Given the description of an element on the screen output the (x, y) to click on. 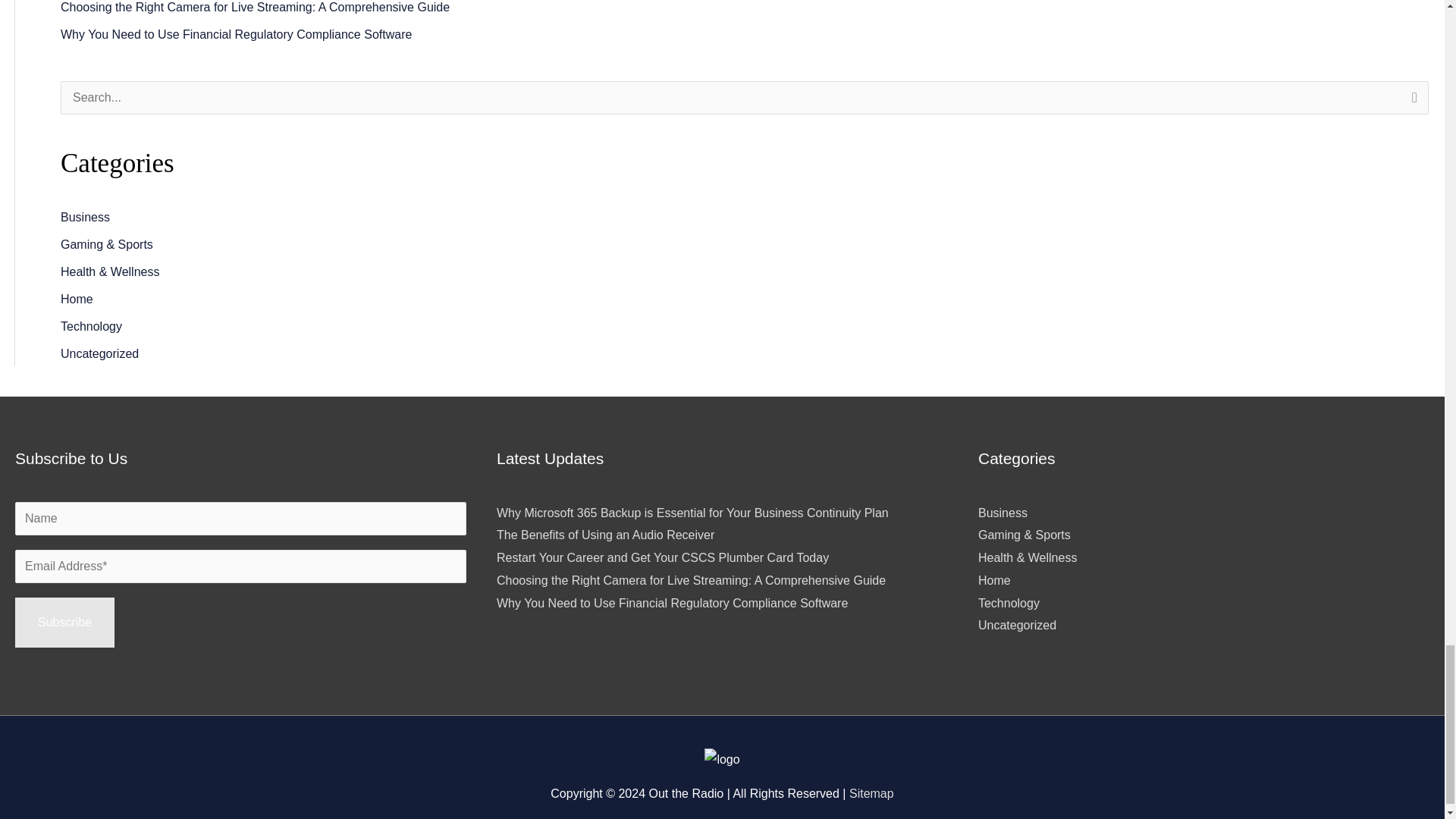
Technology (91, 326)
Search (1411, 102)
Home (77, 298)
Why You Need to Use Financial Regulatory Compliance Software (236, 33)
Subscribe (64, 622)
Uncategorized (99, 353)
Subscribe (64, 622)
Search (1411, 102)
Business (85, 216)
Search (1411, 102)
